Given the description of an element on the screen output the (x, y) to click on. 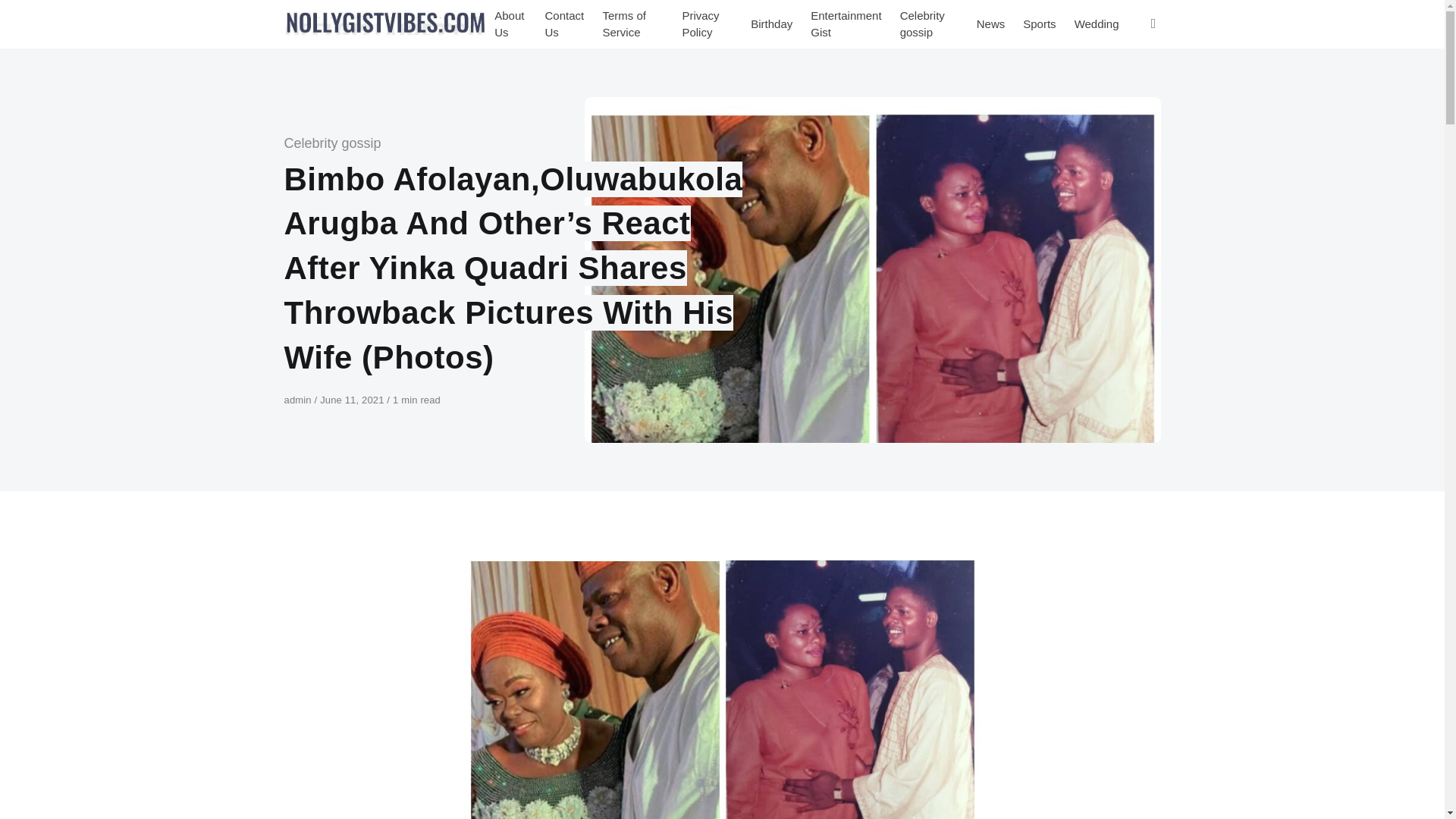
June 11, 2021 (353, 399)
Privacy Policy (706, 24)
admin (298, 399)
Wedding (1096, 24)
Entertainment Gist (845, 24)
News (991, 24)
Celebrity gossip (331, 142)
Birthday (771, 24)
Sports (1038, 24)
Celebrity gossip (929, 24)
Terms of Service (632, 24)
June 11, 2021 (353, 399)
Contact Us (564, 24)
About Us (509, 24)
